Given the description of an element on the screen output the (x, y) to click on. 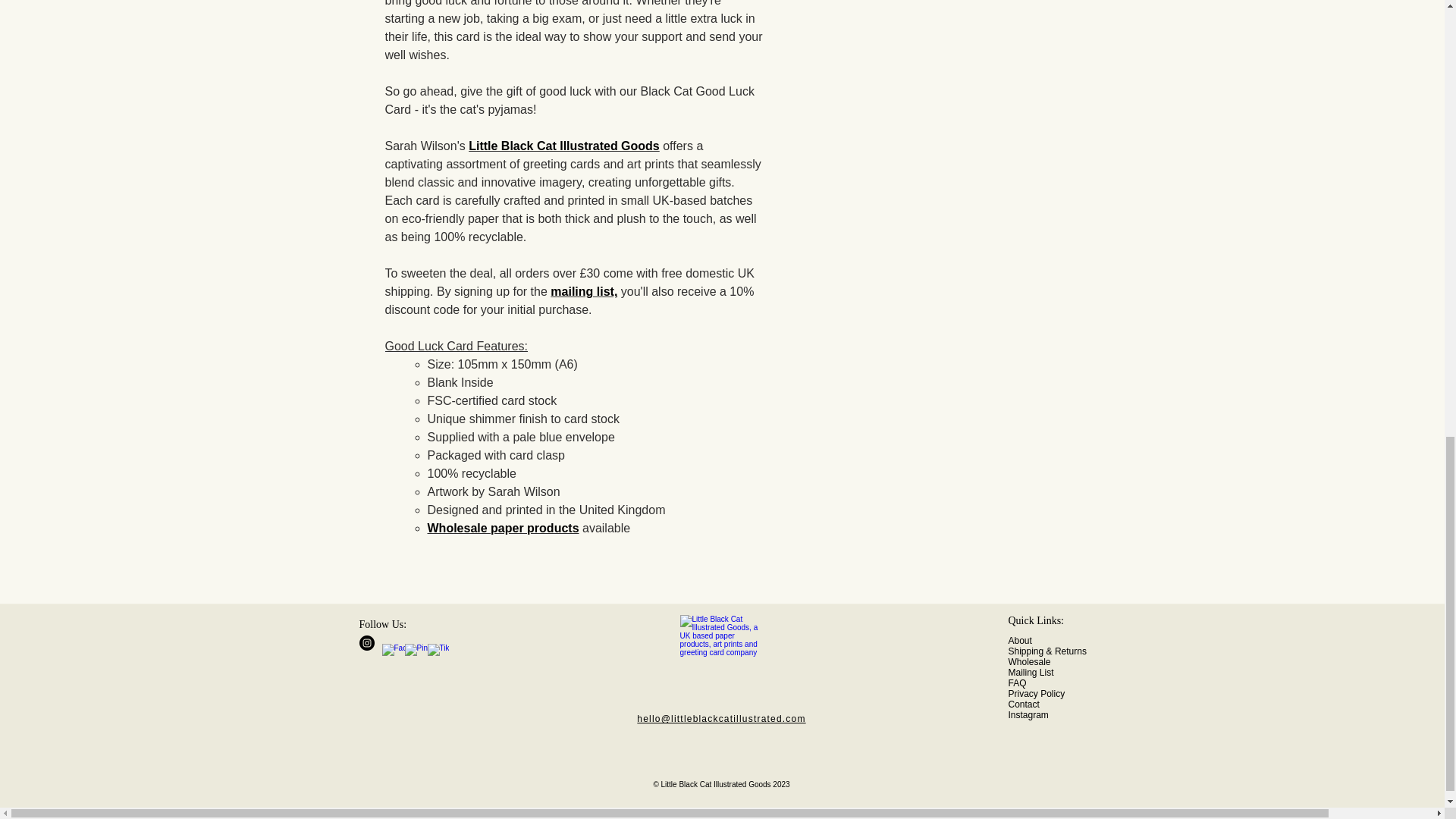
Wholesale paper products (503, 527)
Little Black Cat Illustrated Goods (563, 145)
mailing list, (583, 291)
